Given the description of an element on the screen output the (x, y) to click on. 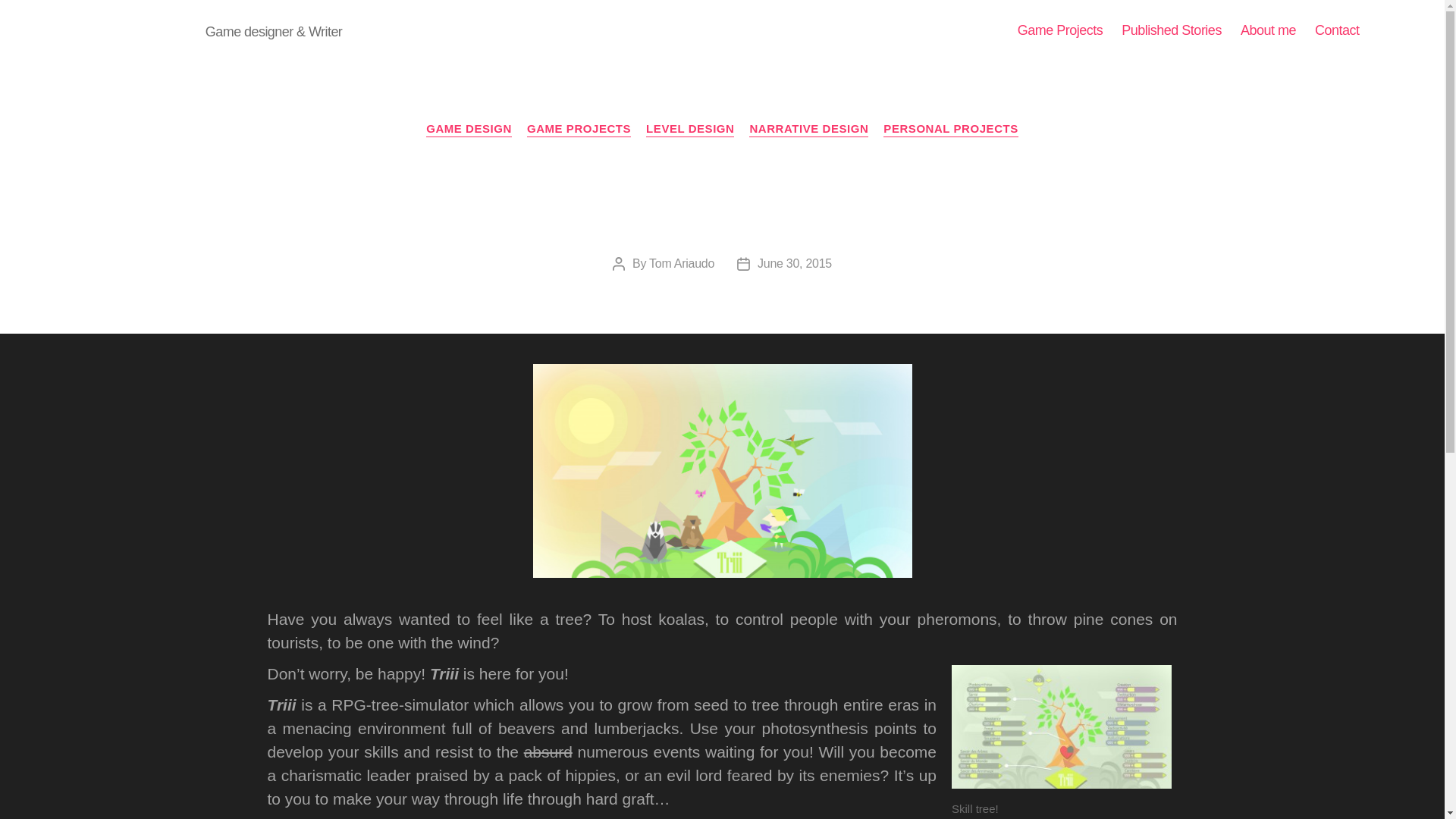
PERSONAL PROJECTS (950, 129)
Tom Ariaudo (135, 30)
GAME DESIGN (469, 129)
June 30, 2015 (794, 263)
Published Stories (1171, 30)
NARRATIVE DESIGN (808, 129)
Game Projects (1060, 30)
Tom Ariaudo (681, 263)
GAME PROJECTS (578, 129)
Contact (1336, 30)
LEVEL DESIGN (689, 129)
About me (1267, 30)
